Given the description of an element on the screen output the (x, y) to click on. 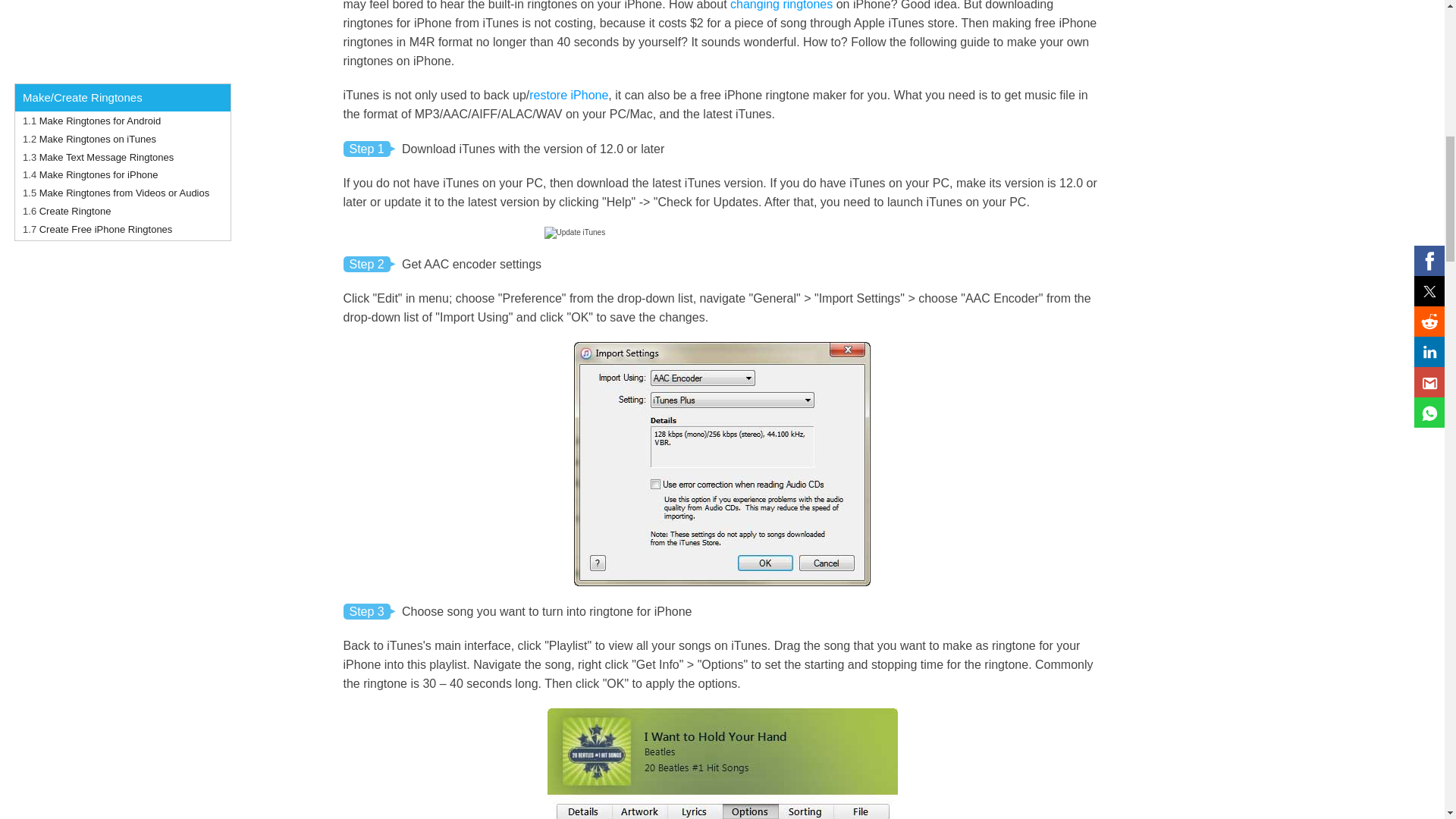
restore iPhone (568, 94)
changing ringtones (781, 5)
